Given the description of an element on the screen output the (x, y) to click on. 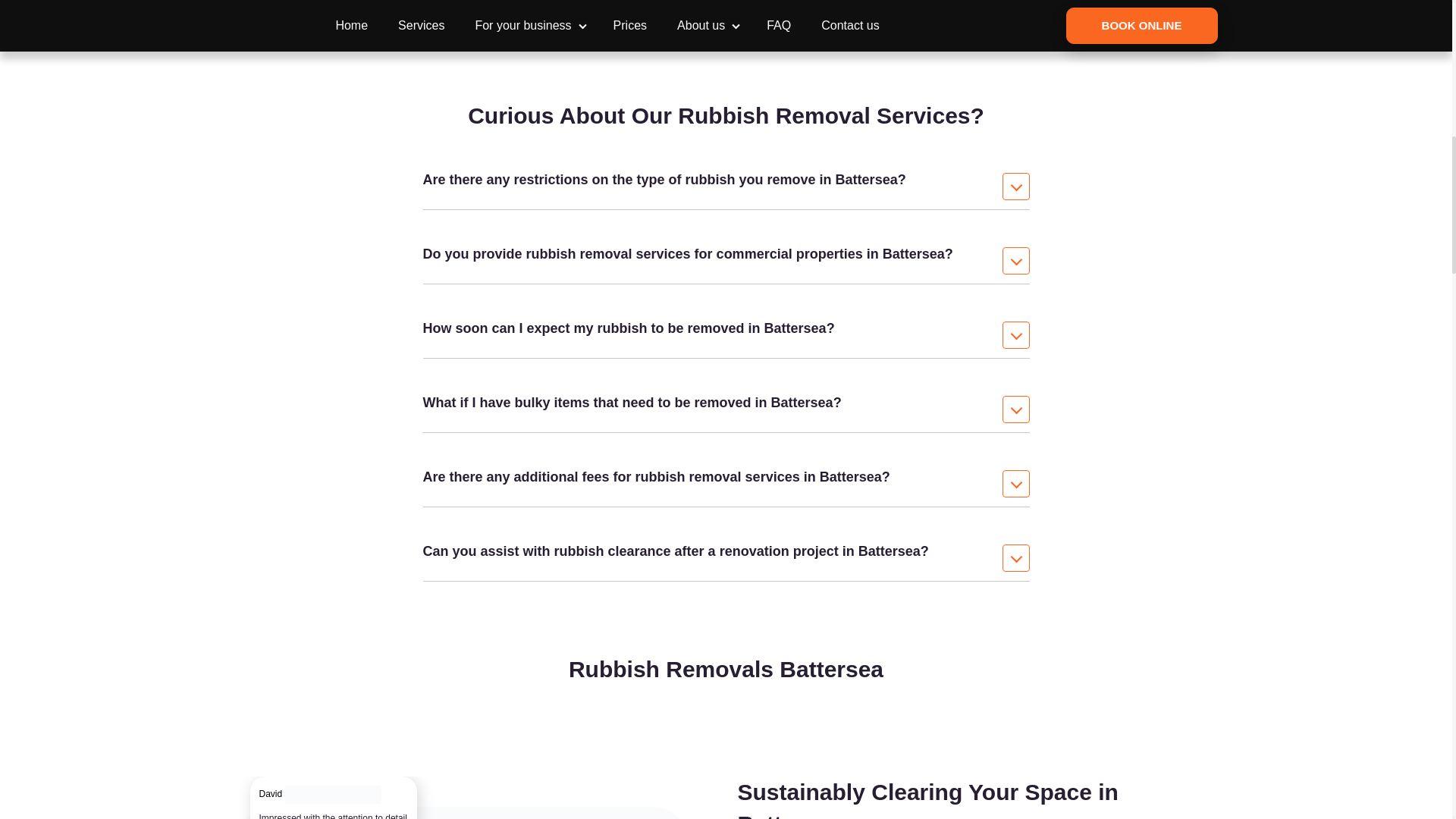
Rubbish Removal Battersea (462, 812)
